Given the description of an element on the screen output the (x, y) to click on. 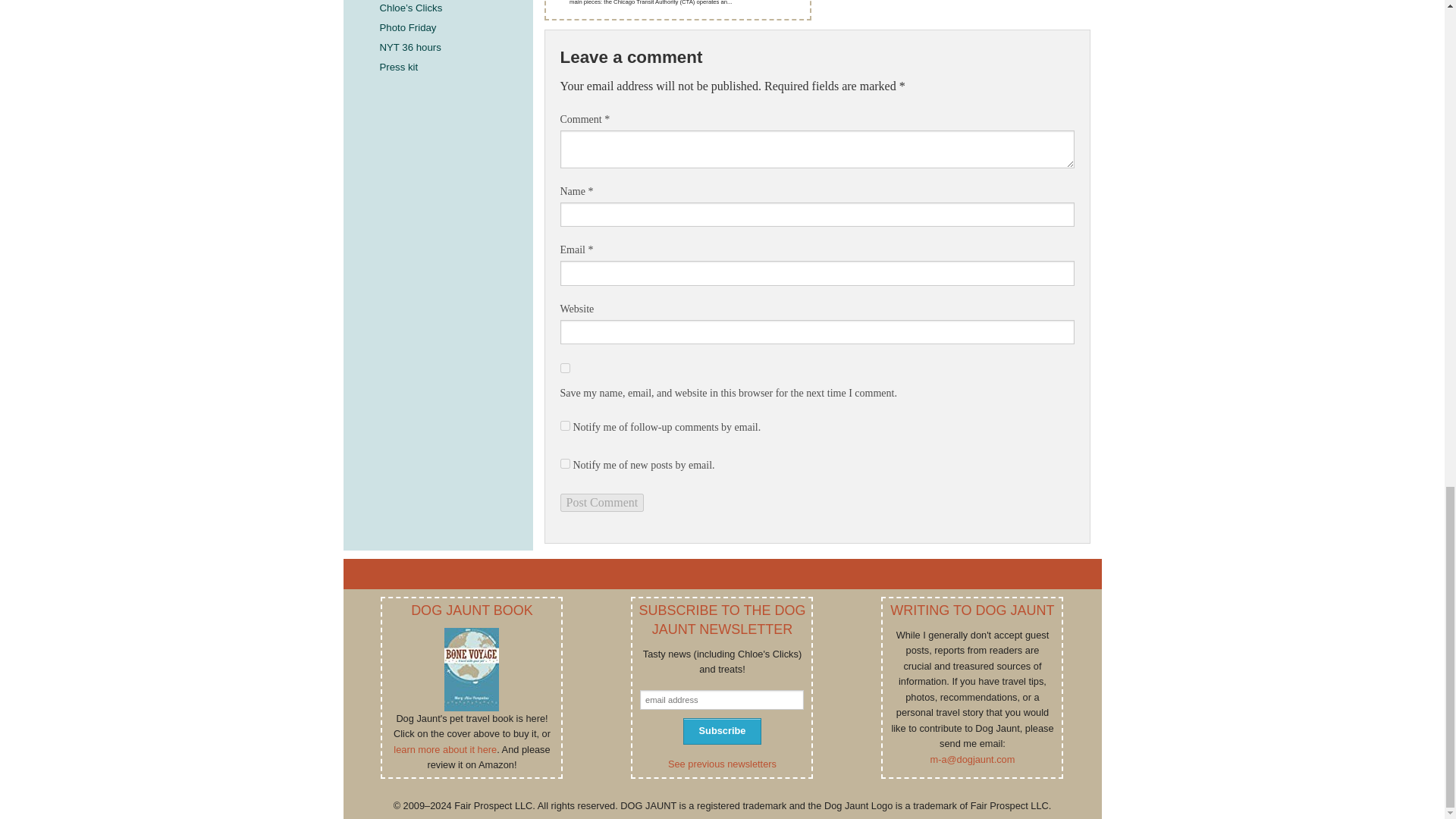
subscribe (564, 425)
subscribe (564, 463)
Subscribe (721, 731)
yes (564, 368)
Post Comment (601, 502)
